Given the description of an element on the screen output the (x, y) to click on. 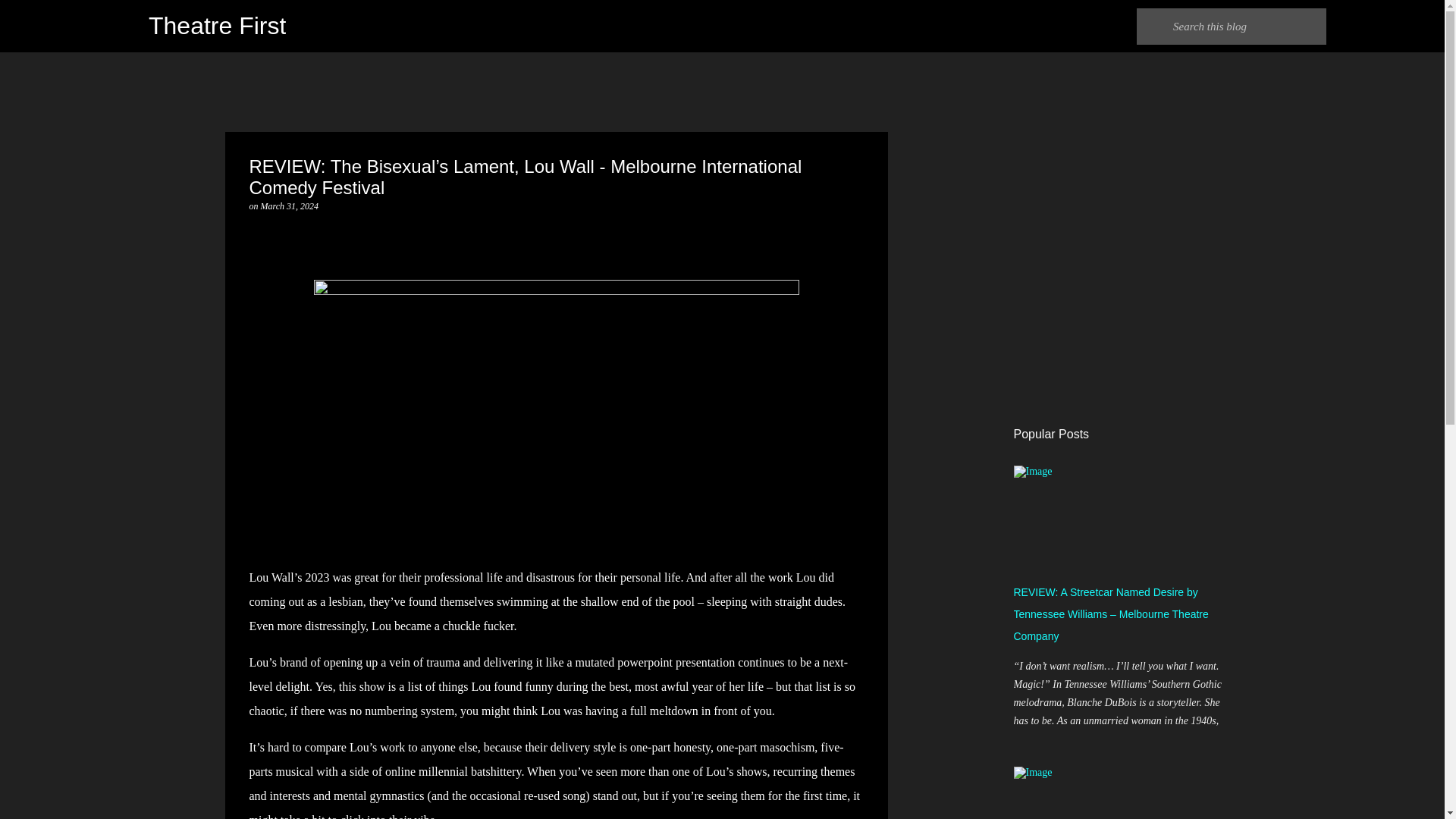
Theatre First (216, 25)
permanent link (289, 205)
March 31, 2024 (289, 205)
